Given the description of an element on the screen output the (x, y) to click on. 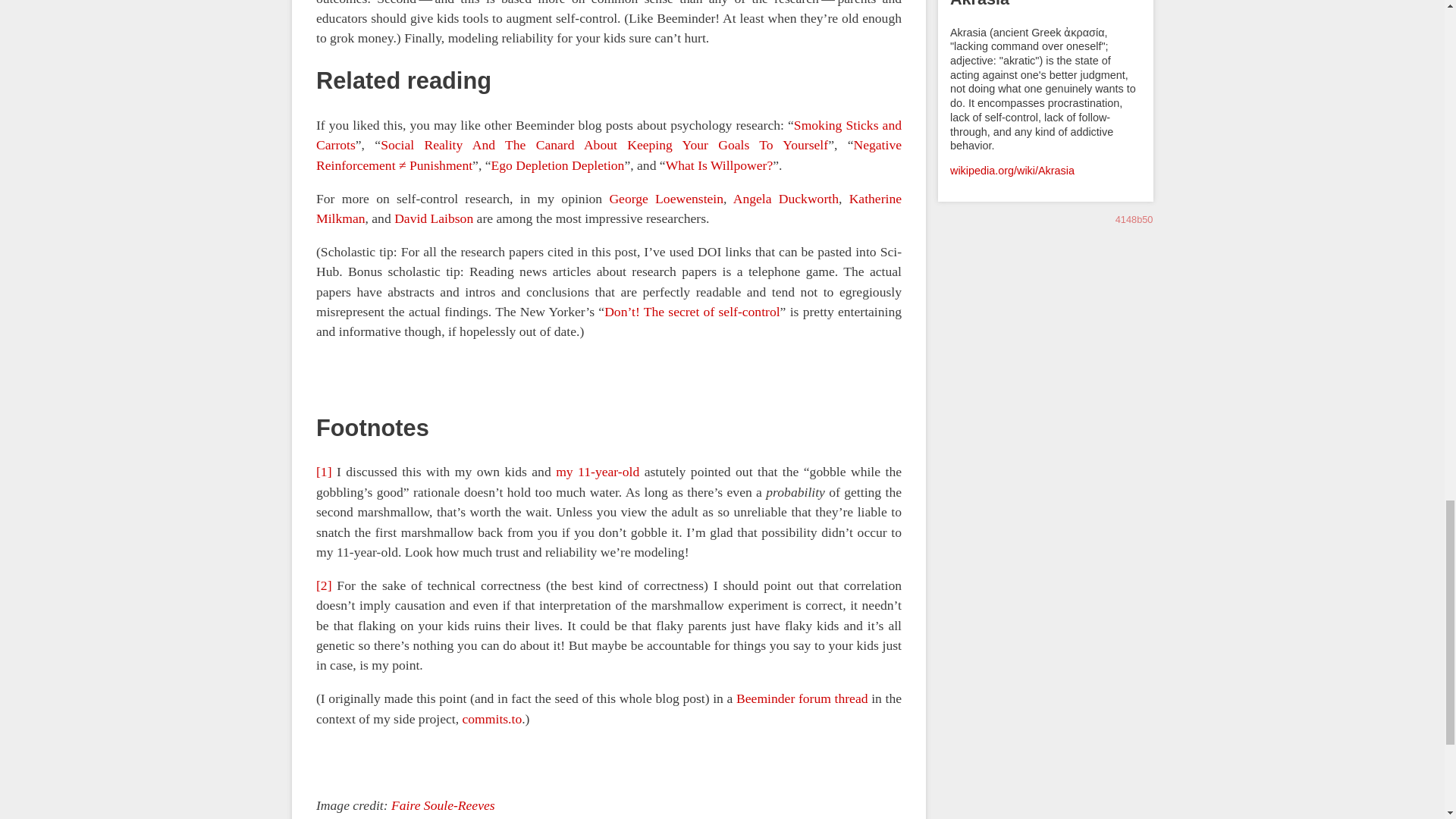
Ego Depletion Depletion (557, 164)
Beeminder forum thread (801, 698)
Angela Duckworth (785, 197)
More on the 'willpower is like a muscle' theory (719, 164)
Katherine Milkman (608, 207)
David Laibson (433, 218)
What Is Willpower? (719, 164)
George Loewenstein (665, 197)
Faire Soule-Reeves (443, 805)
Smoking Sticks and Carrots (608, 134)
Spoiler: You should shout your goals from the rooftops (604, 144)
my 11-year-old (597, 471)
